Given the description of an element on the screen output the (x, y) to click on. 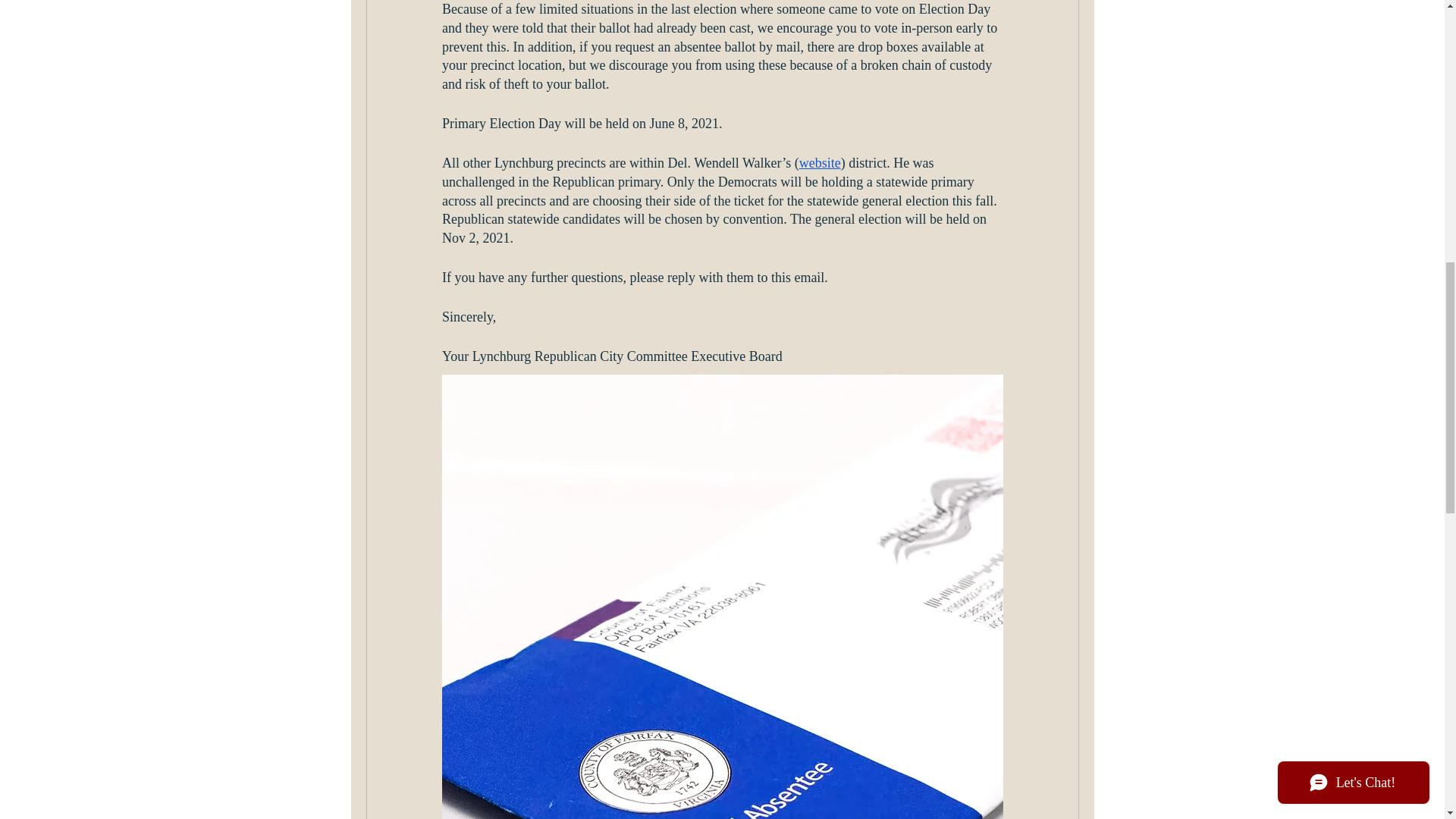
website (818, 162)
